Given the description of an element on the screen output the (x, y) to click on. 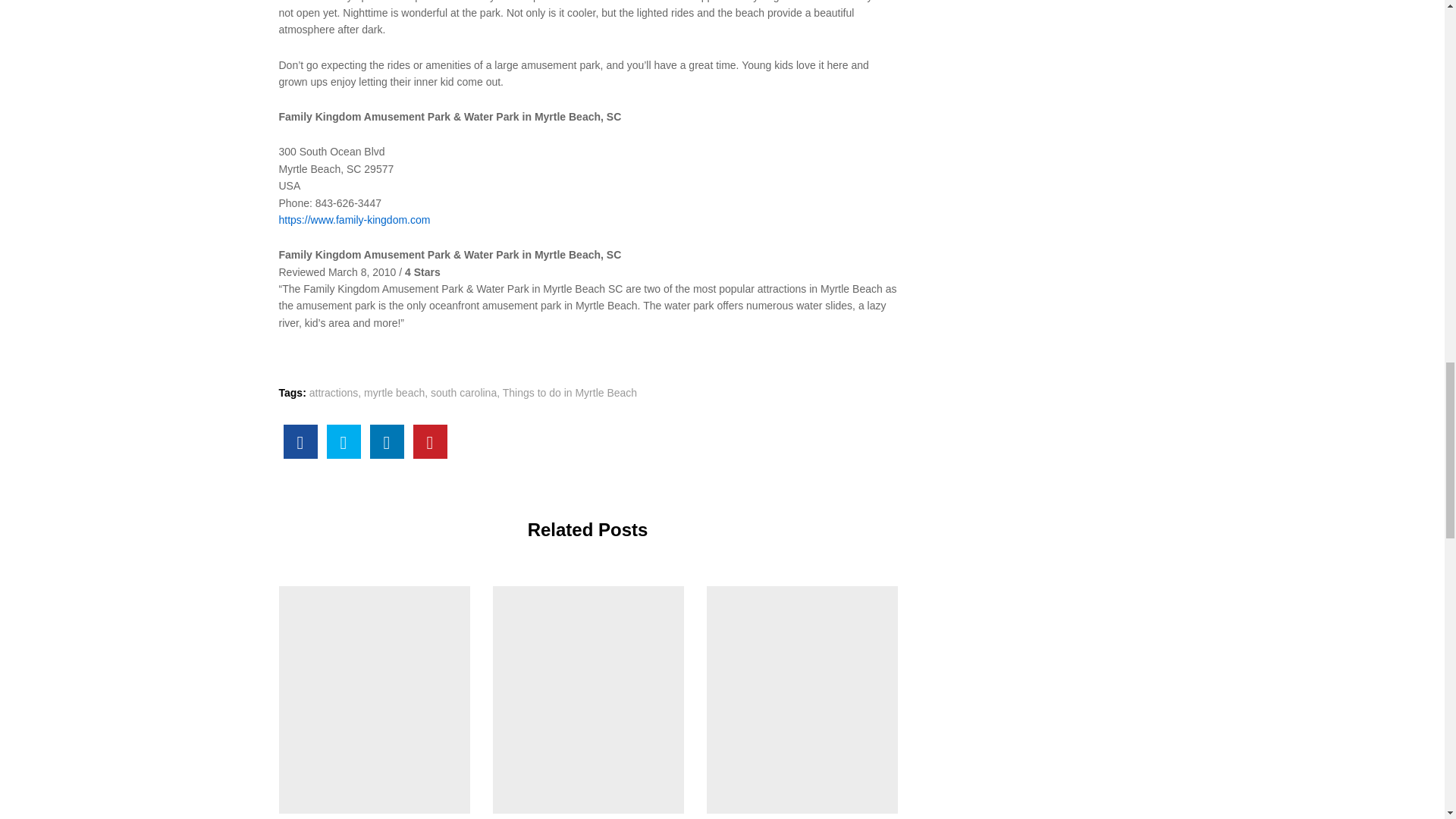
Things to do in Myrtle Beach (569, 392)
south carolina (463, 392)
myrtle beach (394, 392)
attractions (333, 392)
